Given the description of an element on the screen output the (x, y) to click on. 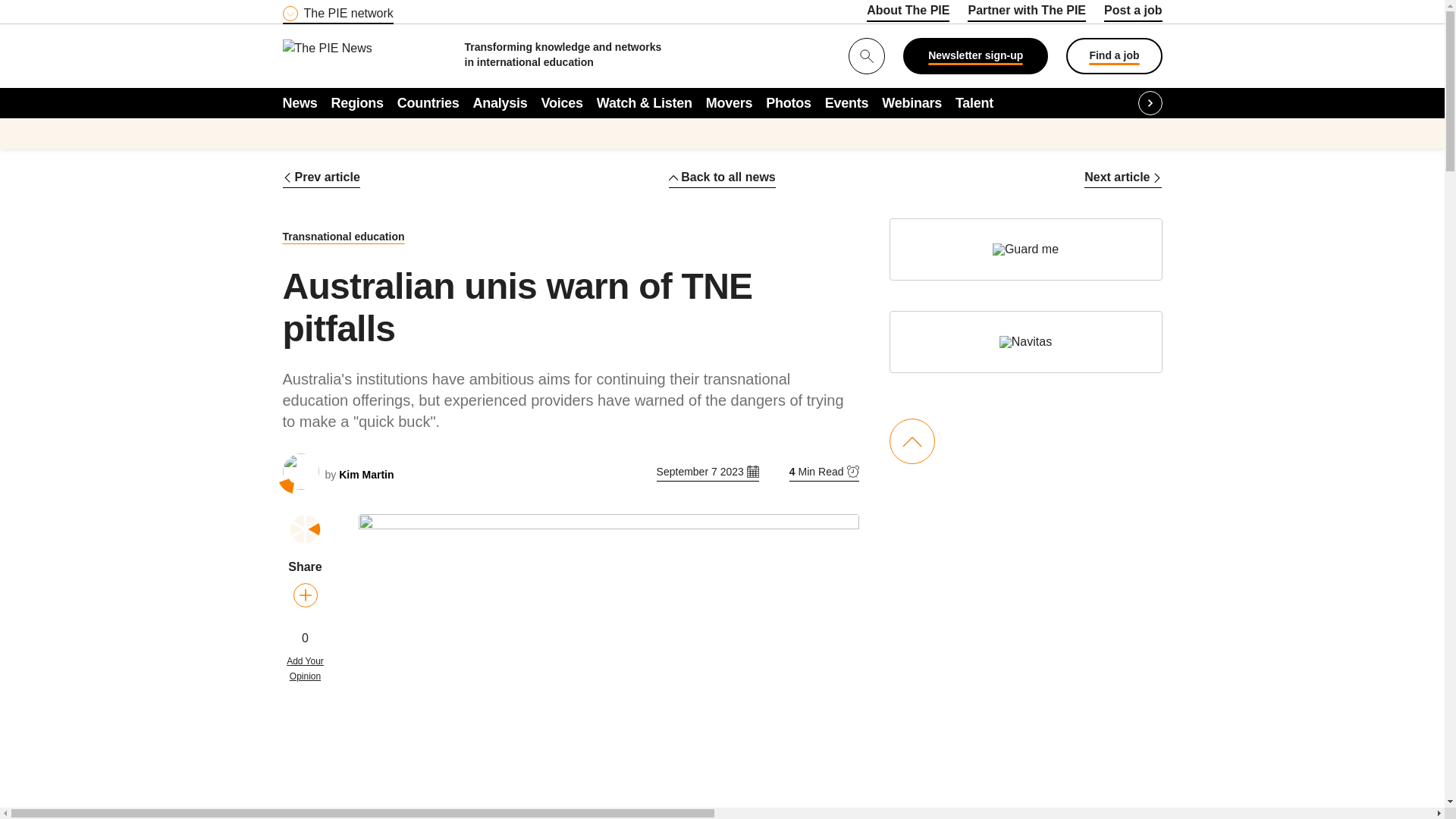
Content (373, 9)
News (299, 102)
Post a job (1132, 13)
Find a job (1113, 55)
Countries (428, 102)
Partner with The PIE (1027, 13)
About The PIE (907, 13)
Regions (357, 102)
Submit (18, 9)
